Given the description of an element on the screen output the (x, y) to click on. 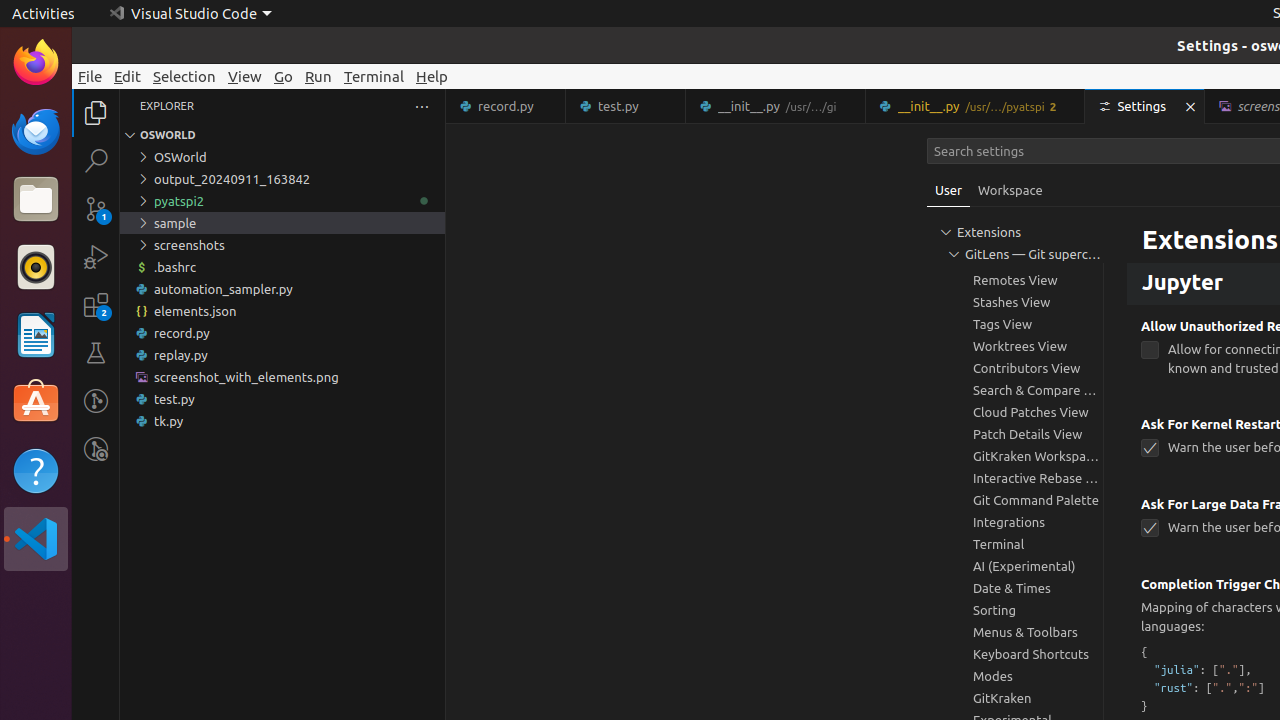
jupyter.askForLargeDataFrames Element type: check-box (1150, 528)
__init__.py Element type: page-tab (975, 106)
Worktrees View, group Element type: tree-item (1015, 346)
Cloud Patches View, group Element type: tree-item (1015, 412)
